Given the description of an element on the screen output the (x, y) to click on. 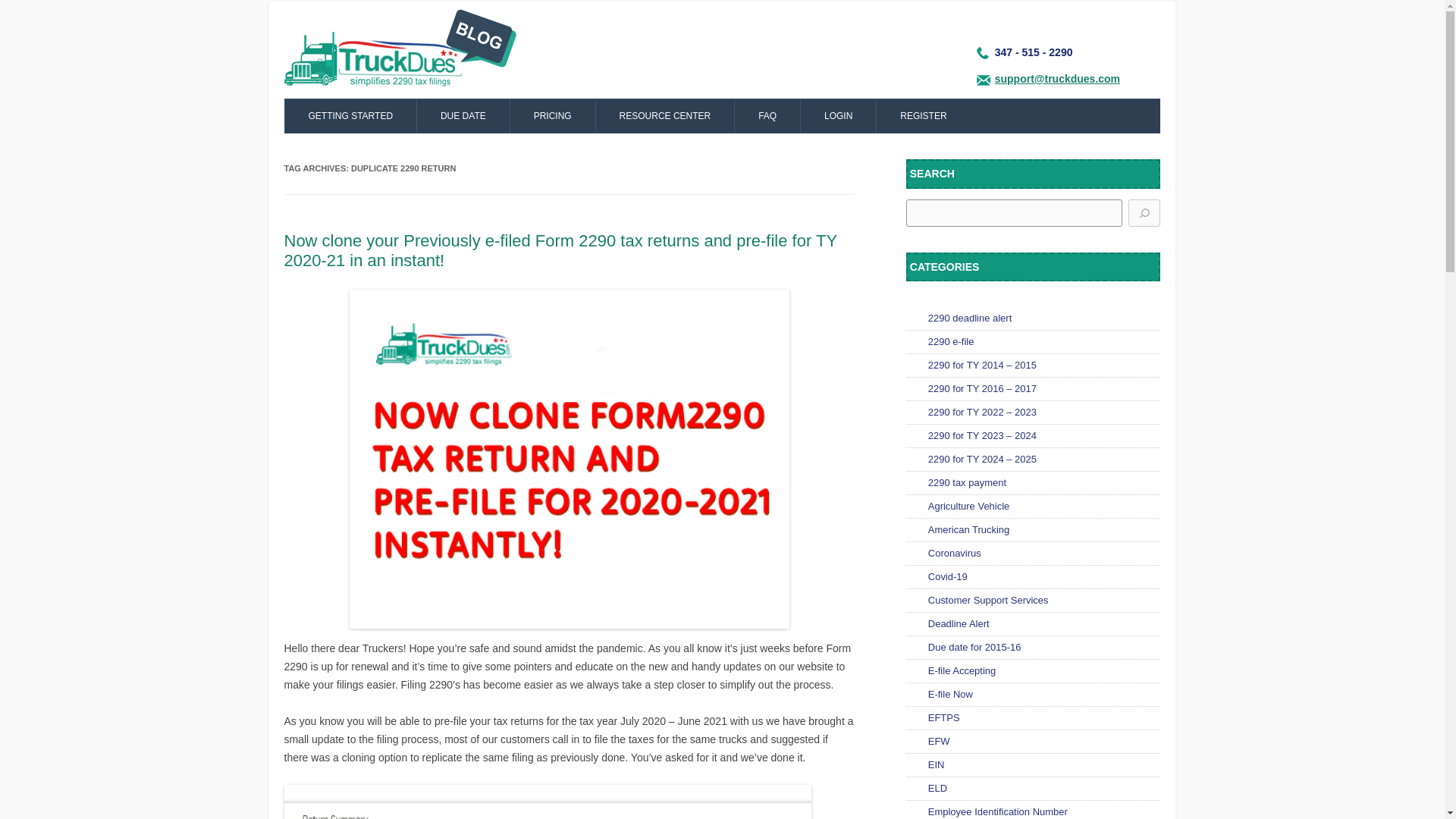
DUE DATE (462, 115)
Login (838, 115)
Due Date (462, 115)
Resource Center (665, 115)
RESOURCE CENTER (665, 115)
PRICING (553, 115)
FAQ (767, 115)
